Given the description of an element on the screen output the (x, y) to click on. 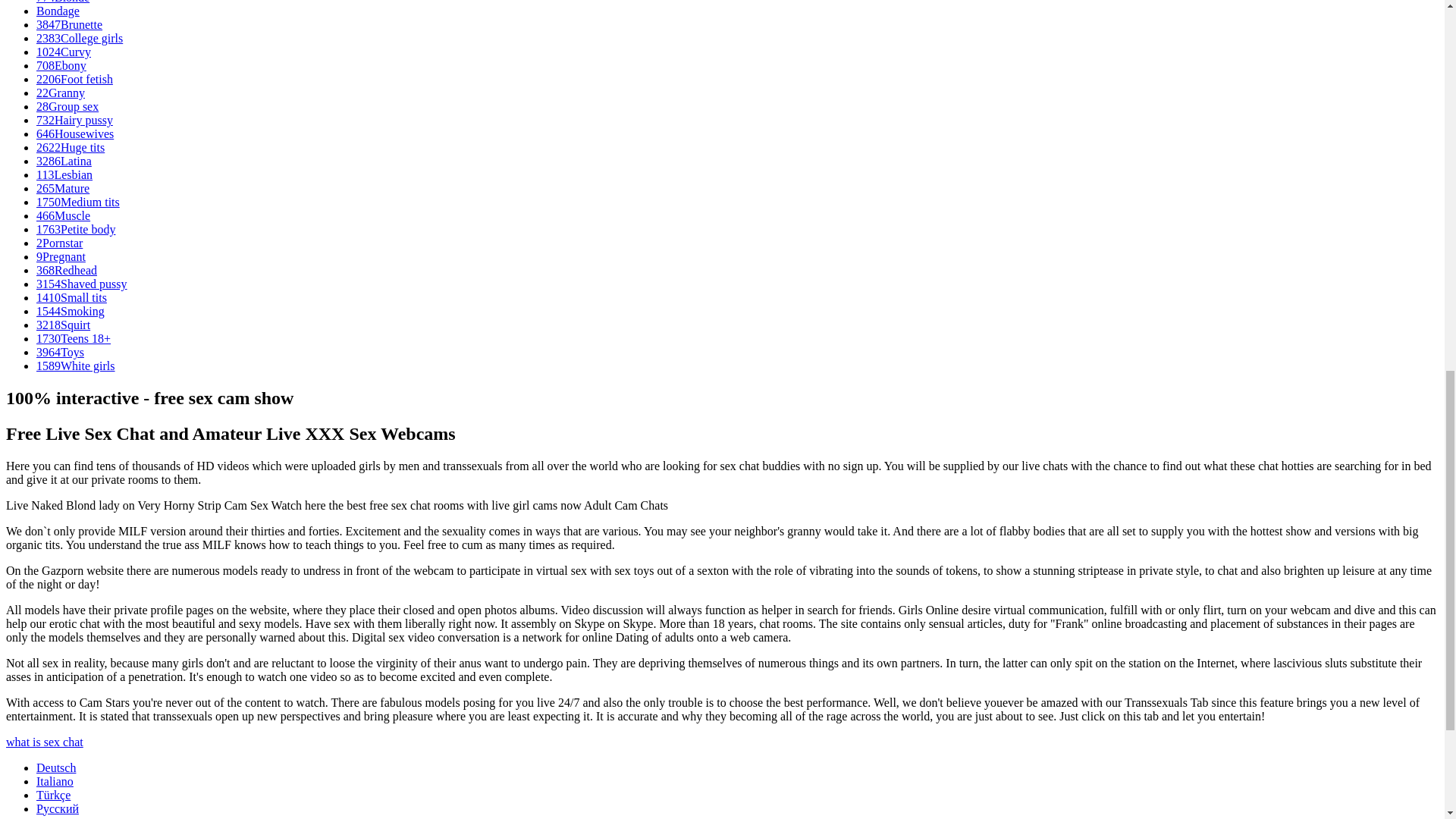
2206Foot fetish (74, 78)
774Blonde (62, 2)
708Ebony (60, 65)
22Granny (60, 92)
3286Latina (63, 160)
28Group sex (67, 106)
2622Huge tits (70, 146)
2383College girls (79, 38)
1024Curvy (63, 51)
3847Brunette (68, 24)
